Given the description of an element on the screen output the (x, y) to click on. 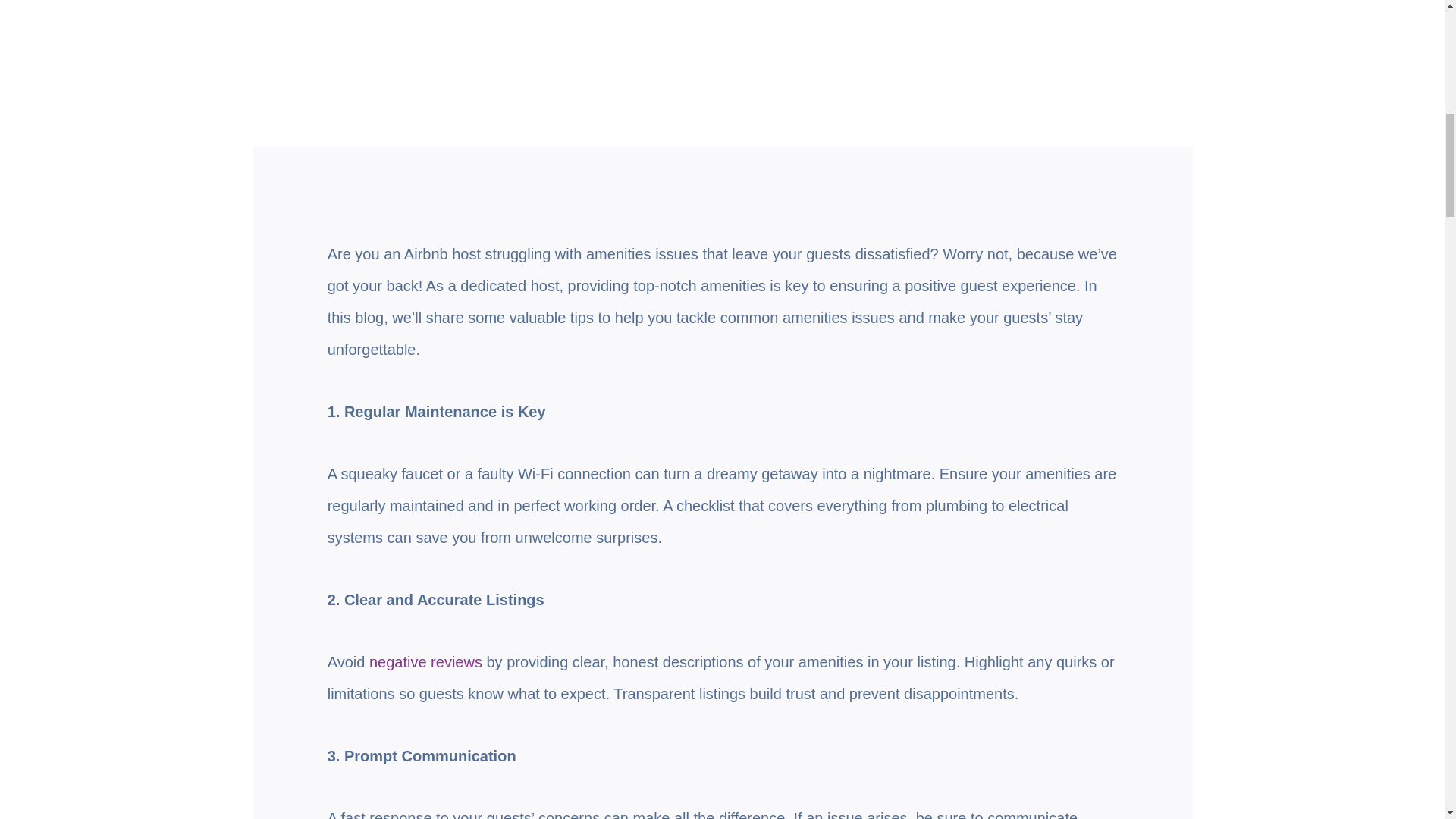
pexels-cottonbro-studio-9374129 (970, 24)
negative reviews (425, 661)
